Given the description of an element on the screen output the (x, y) to click on. 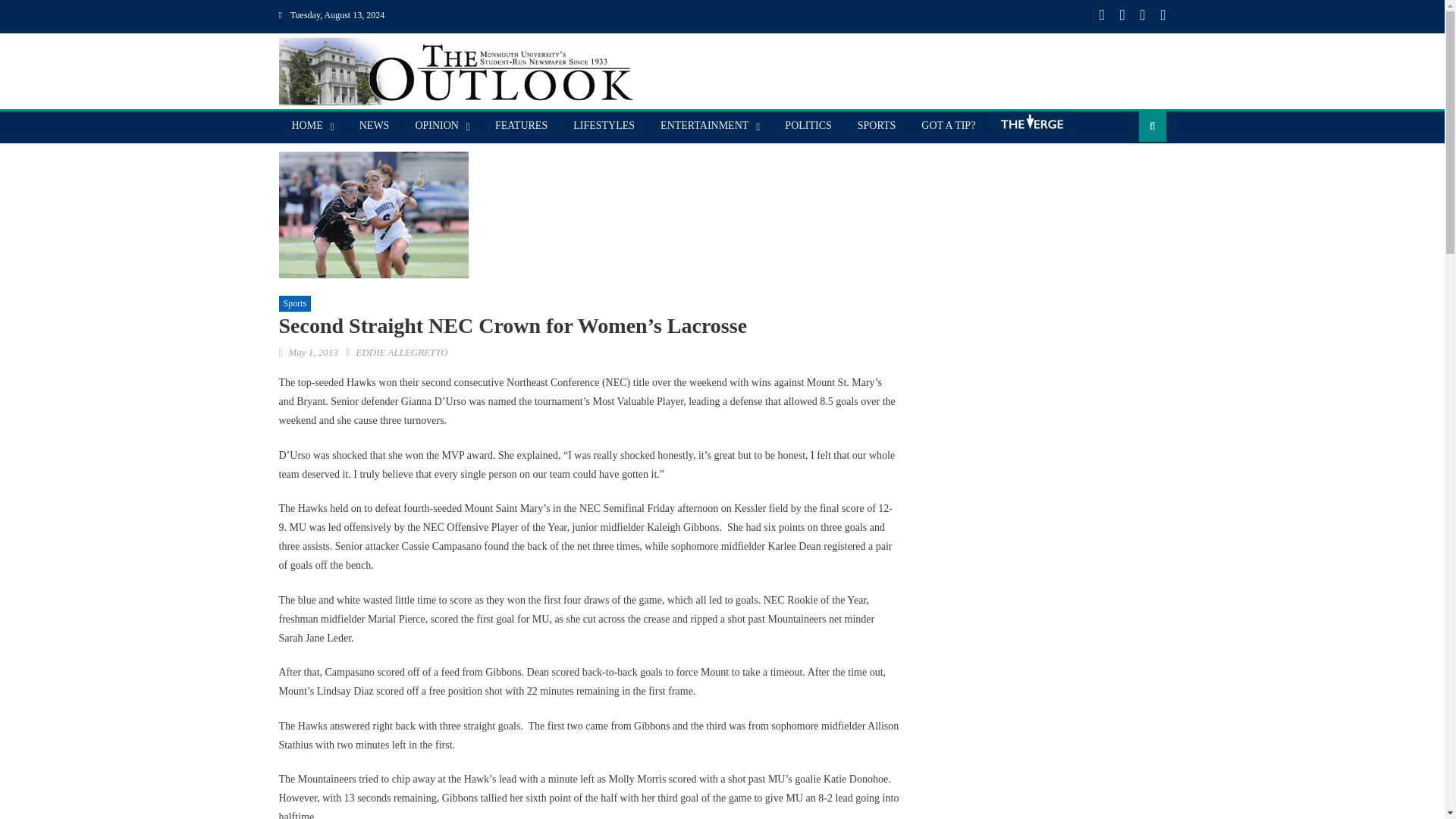
LIFESTYLES (604, 125)
POLITICS (808, 125)
Sports (295, 303)
GOT A TIP? (948, 125)
Search (1128, 175)
FEATURES (521, 125)
EDDIE ALLEGRETTO (400, 351)
Posts by EDDIE ALLEGRETTO (400, 351)
THE VERGE (1030, 127)
ENTERTAINMENT (704, 125)
